Given the description of an element on the screen output the (x, y) to click on. 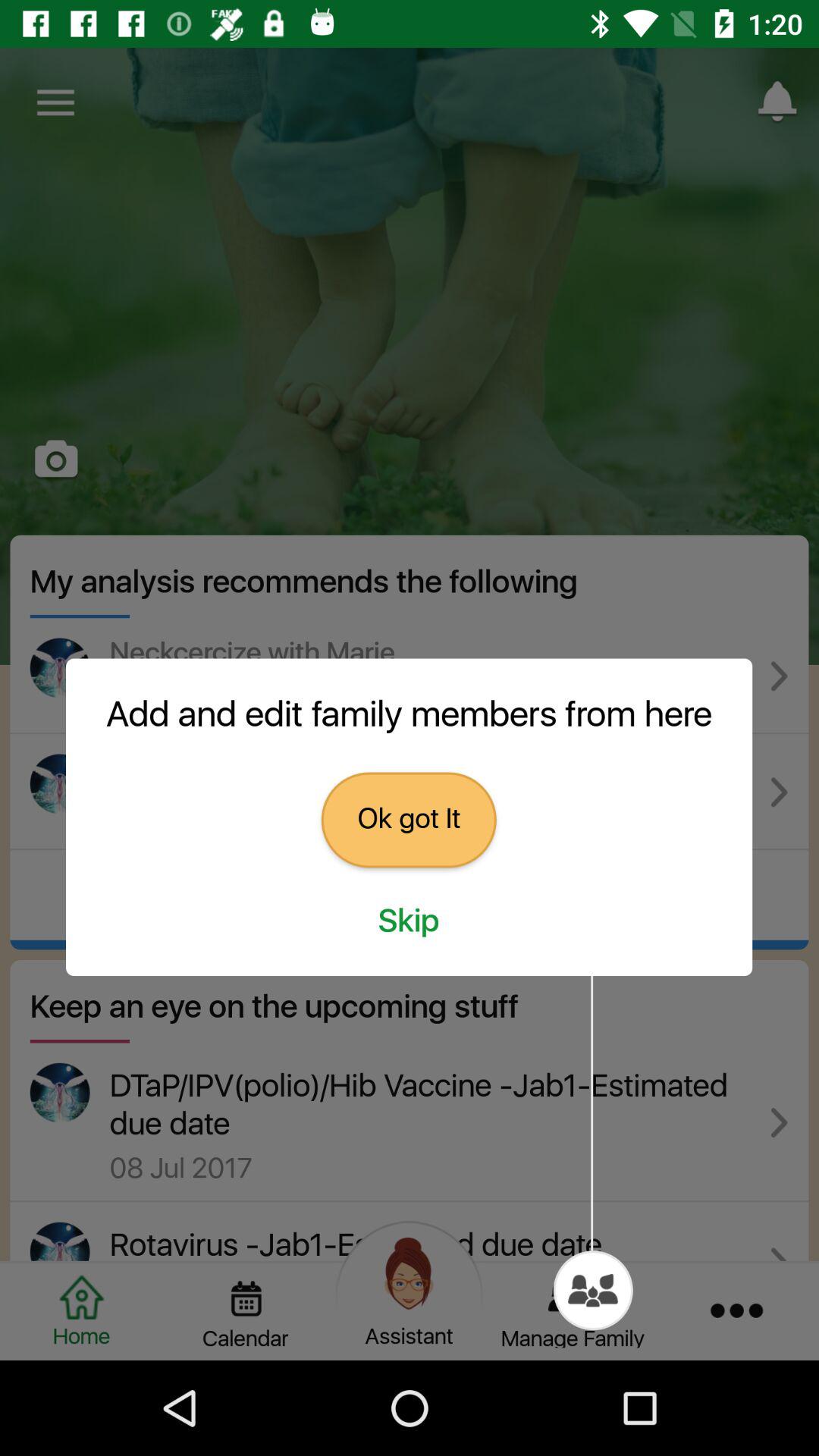
press ok got it item (408, 819)
